Given the description of an element on the screen output the (x, y) to click on. 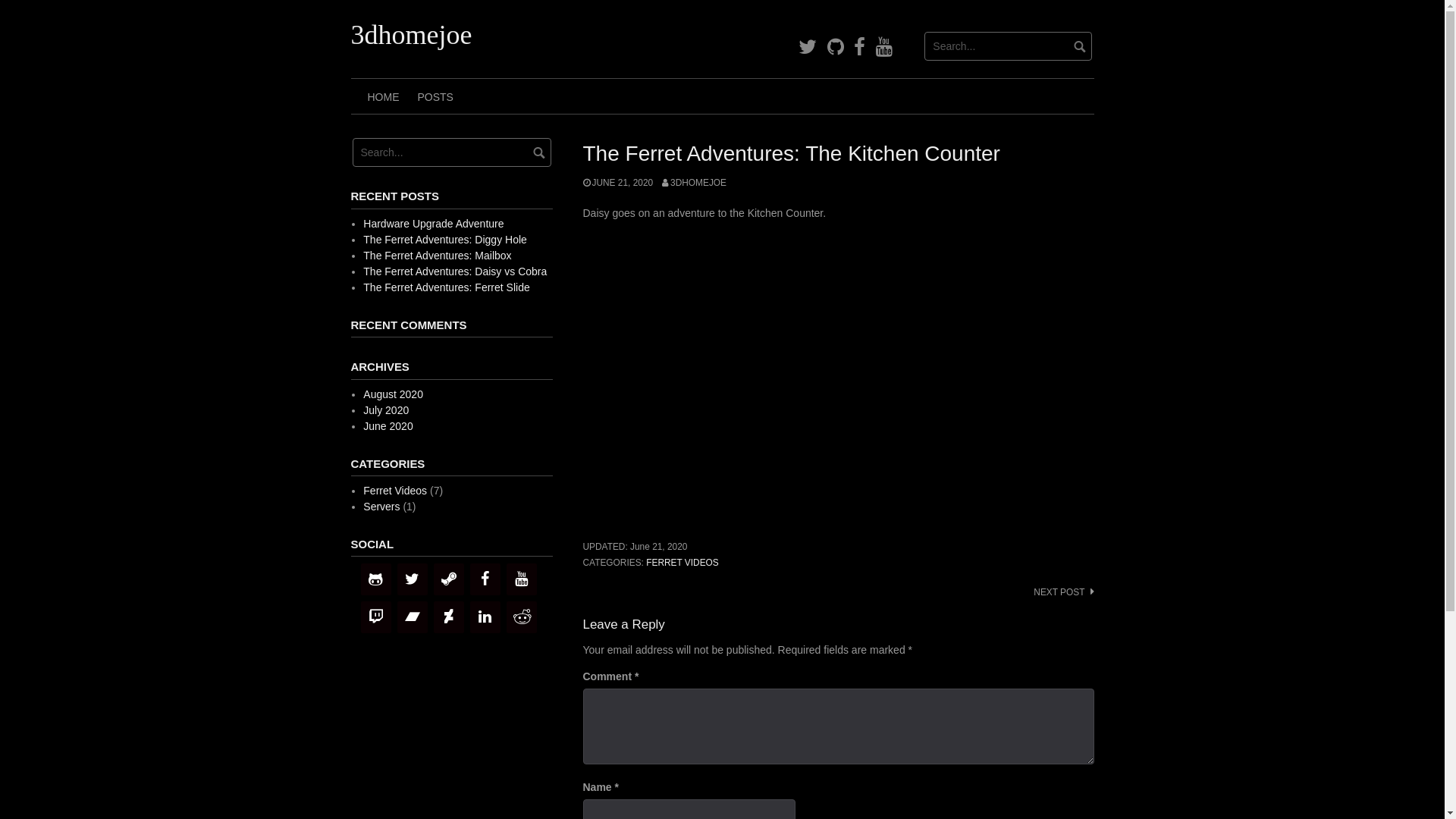
3dhomejoe Element type: text (410, 34)
3DHOMEJOE Element type: text (694, 182)
The Ferret Adventures: The Kitchen Counter Element type: hover (837, 375)
Servers Element type: text (381, 506)
NEXT POST Element type: text (1063, 591)
YouTube Element type: text (883, 47)
Hardware Upgrade Adventure Element type: text (433, 223)
July 2020 Element type: text (385, 410)
Twitter Element type: text (807, 47)
The Ferret Adventures: Mailbox Element type: text (437, 255)
The Ferret Adventures: Daisy vs Cobra Element type: text (454, 271)
JUNE 21, 2020 Element type: text (617, 182)
June 21, 2020 Element type: text (658, 546)
The Ferret Adventures: Diggy Hole Element type: text (445, 239)
HOME Element type: text (382, 95)
Search for: Element type: hover (450, 152)
Facebook Element type: text (859, 47)
The Ferret Adventures: Ferret Slide Element type: text (446, 287)
GitHub Element type: text (835, 47)
August 2020 Element type: text (393, 394)
FERRET VIDEOS Element type: text (682, 562)
June 2020 Element type: text (387, 426)
Search for: Element type: hover (1008, 45)
Ferret Videos Element type: text (394, 490)
POSTS Element type: text (434, 95)
